Given the description of an element on the screen output the (x, y) to click on. 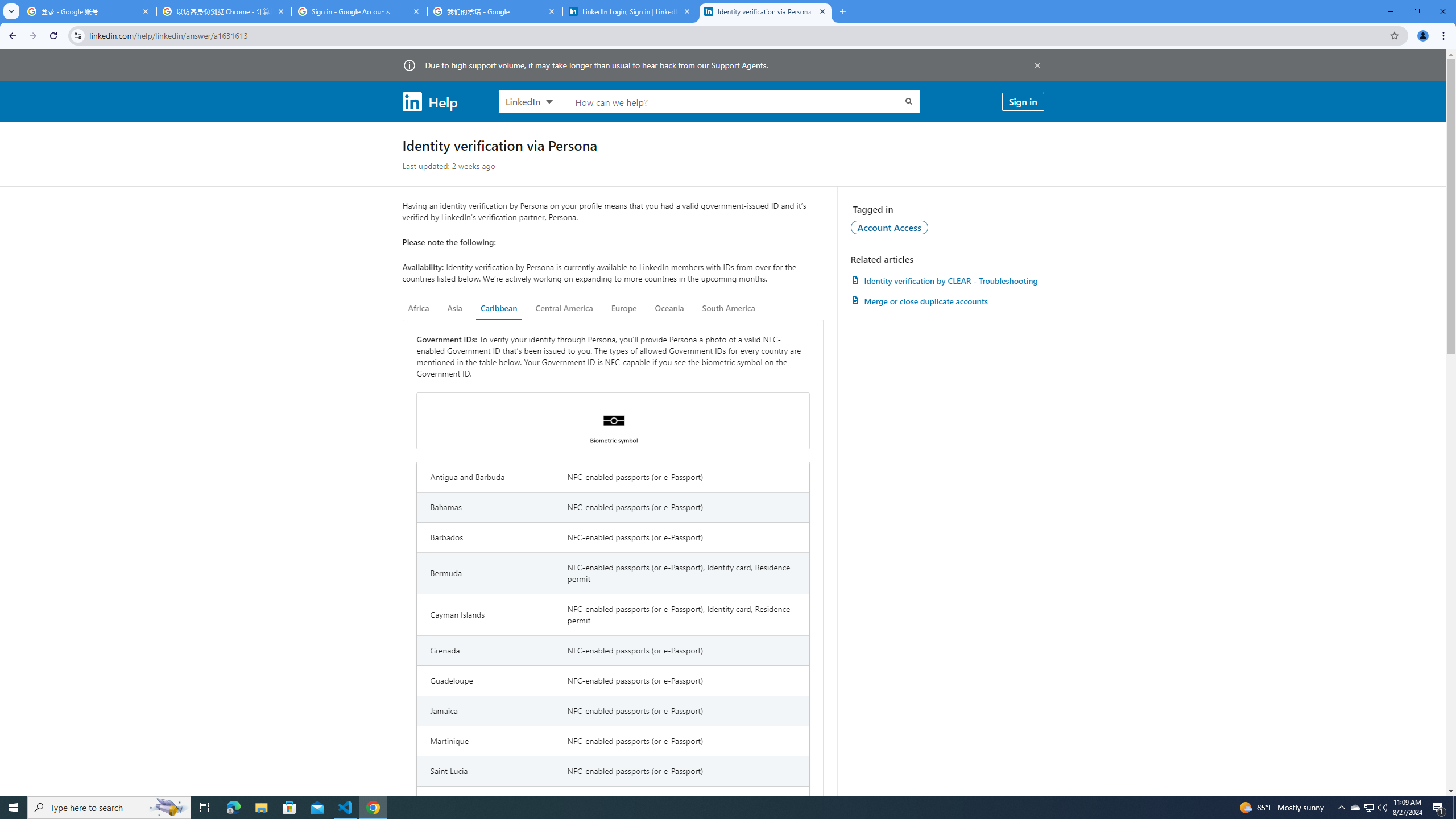
Submit search (908, 101)
Merge or close duplicate accounts (946, 300)
LinkedIn products to search, LinkedIn selected (530, 101)
Africa (418, 308)
